Given the description of an element on the screen output the (x, y) to click on. 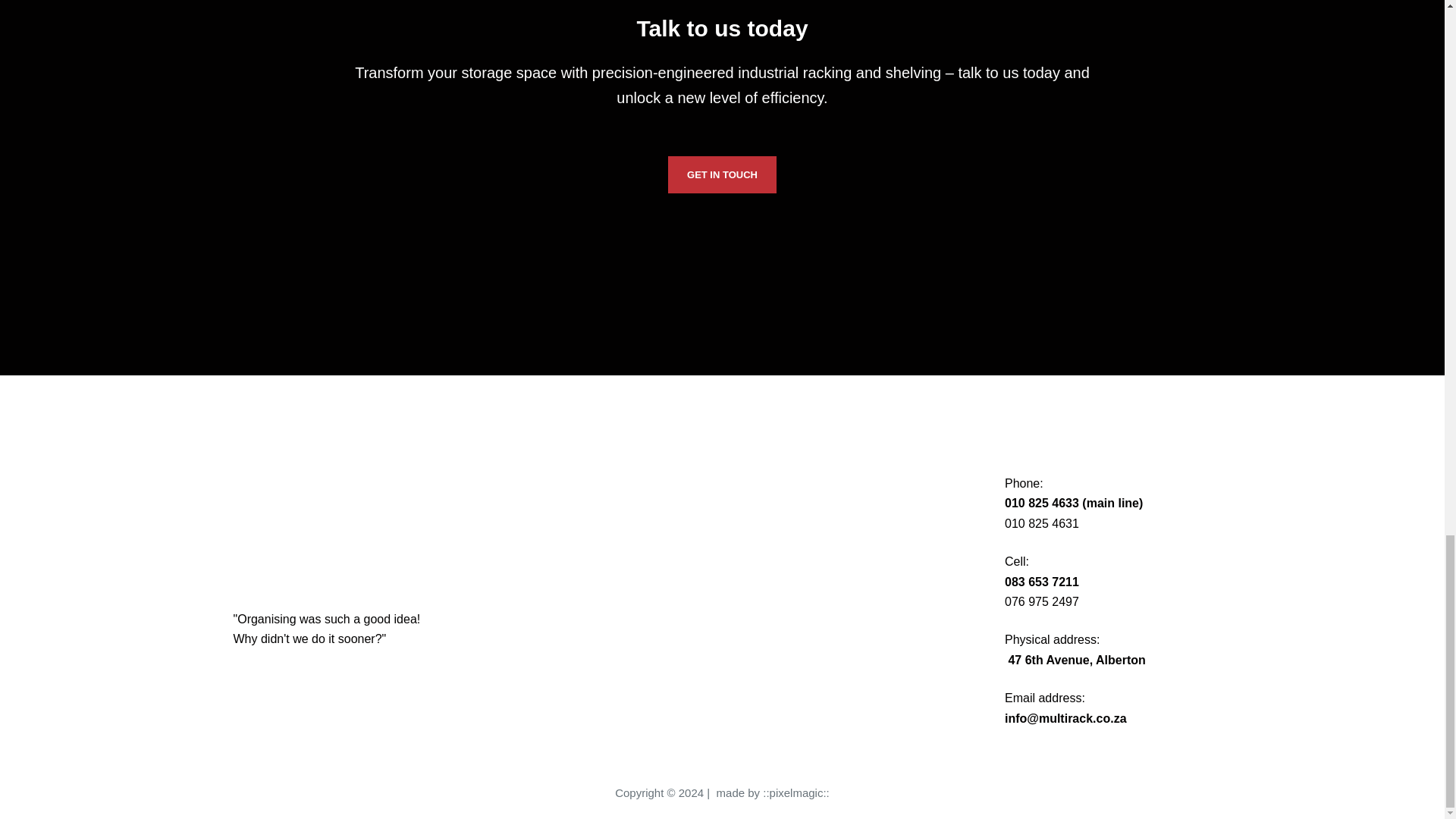
076 975 2497 (1041, 601)
GET IN TOUCH (722, 174)
010 825 4631 (1041, 522)
pixelmagic (797, 792)
083 653 7211 (1041, 581)
010 825 4633 (1041, 502)
